Given the description of an element on the screen output the (x, y) to click on. 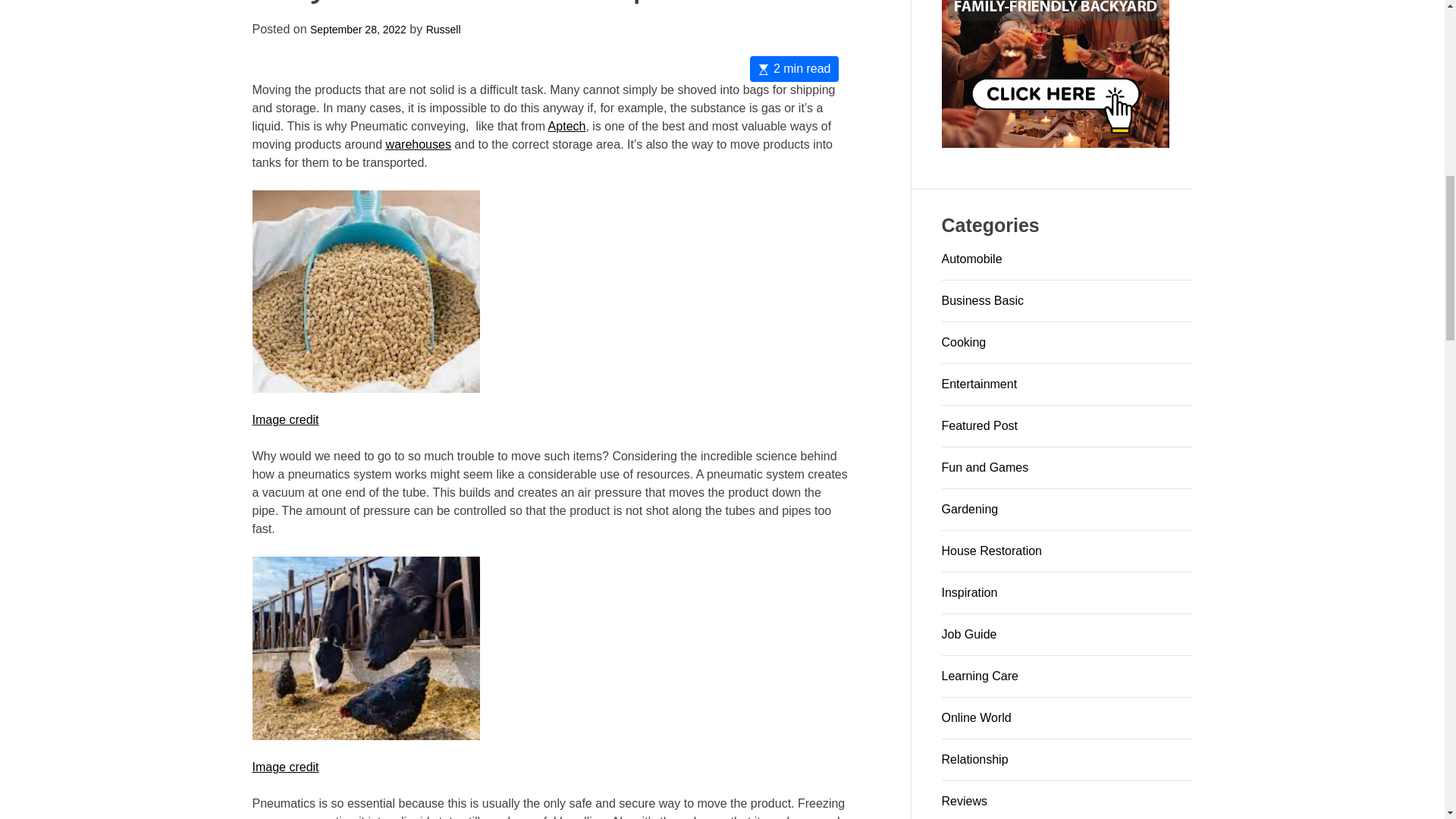
Russell (601, 569)
Click Here (1055, 74)
Russell (325, 612)
